Given the description of an element on the screen output the (x, y) to click on. 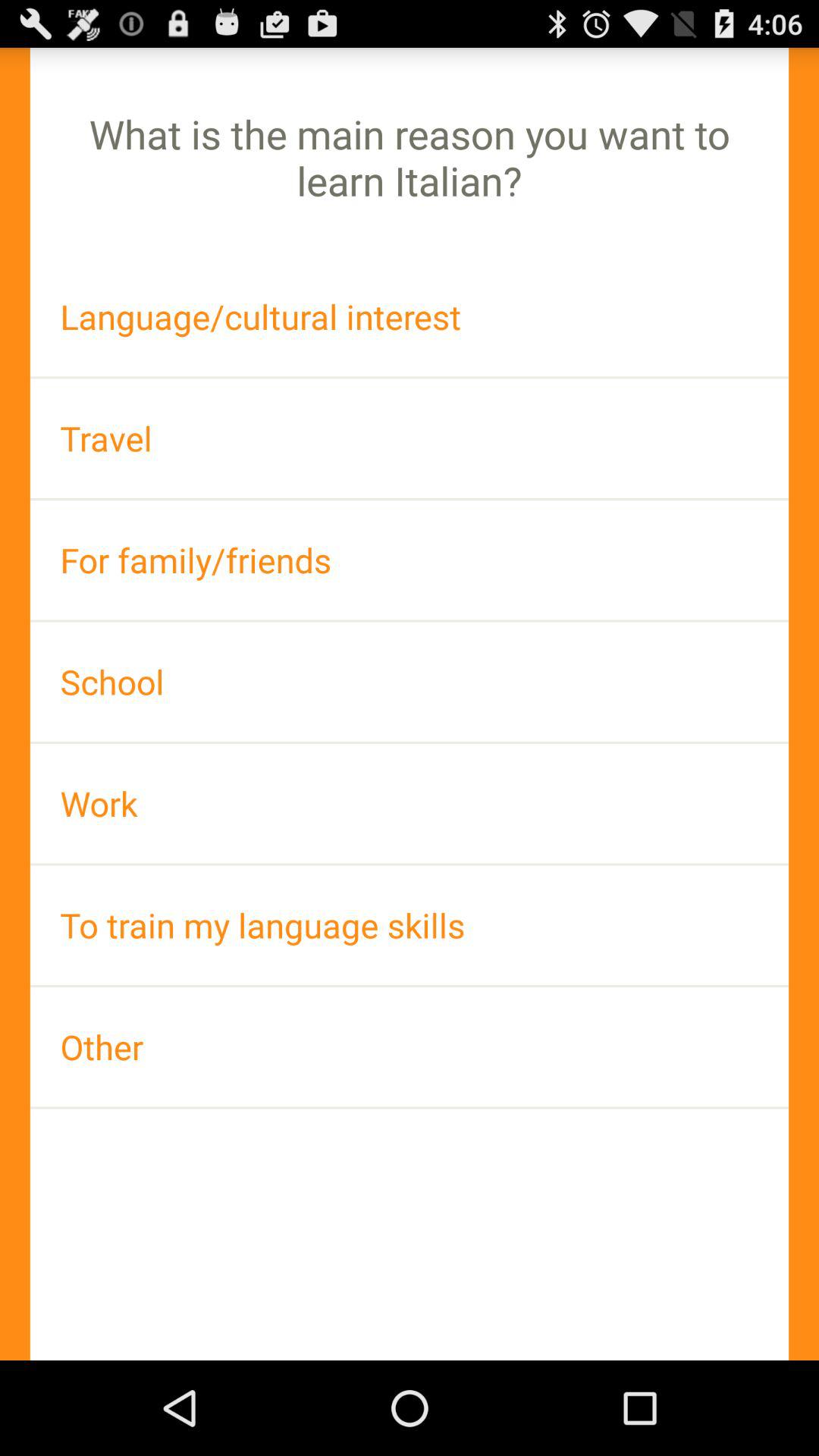
jump to the language/cultural interest icon (409, 316)
